Given the description of an element on the screen output the (x, y) to click on. 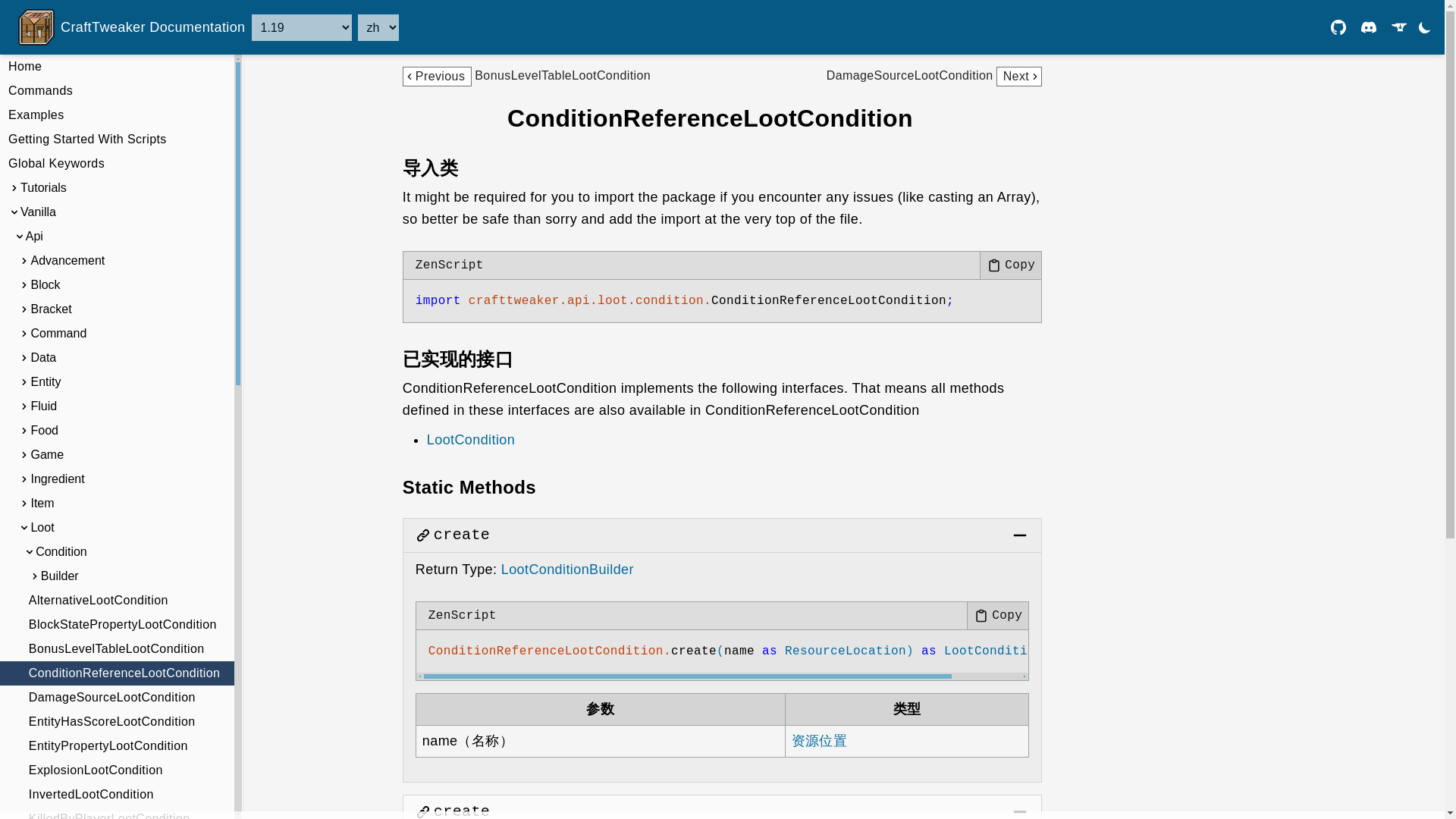
Home (117, 66)
Bracket (117, 309)
ConditionReferenceLootCondition (117, 672)
create (461, 810)
Game (117, 454)
Entity (117, 381)
Command (117, 333)
BonusLevelTableLootCondition (117, 648)
Global Keywords (117, 163)
Loot (117, 527)
Ingredient (117, 478)
Github (1338, 27)
EntityPropertyLootCondition (117, 745)
EntityHasScoreLootCondition (117, 721)
Condition (117, 551)
